Given the description of an element on the screen output the (x, y) to click on. 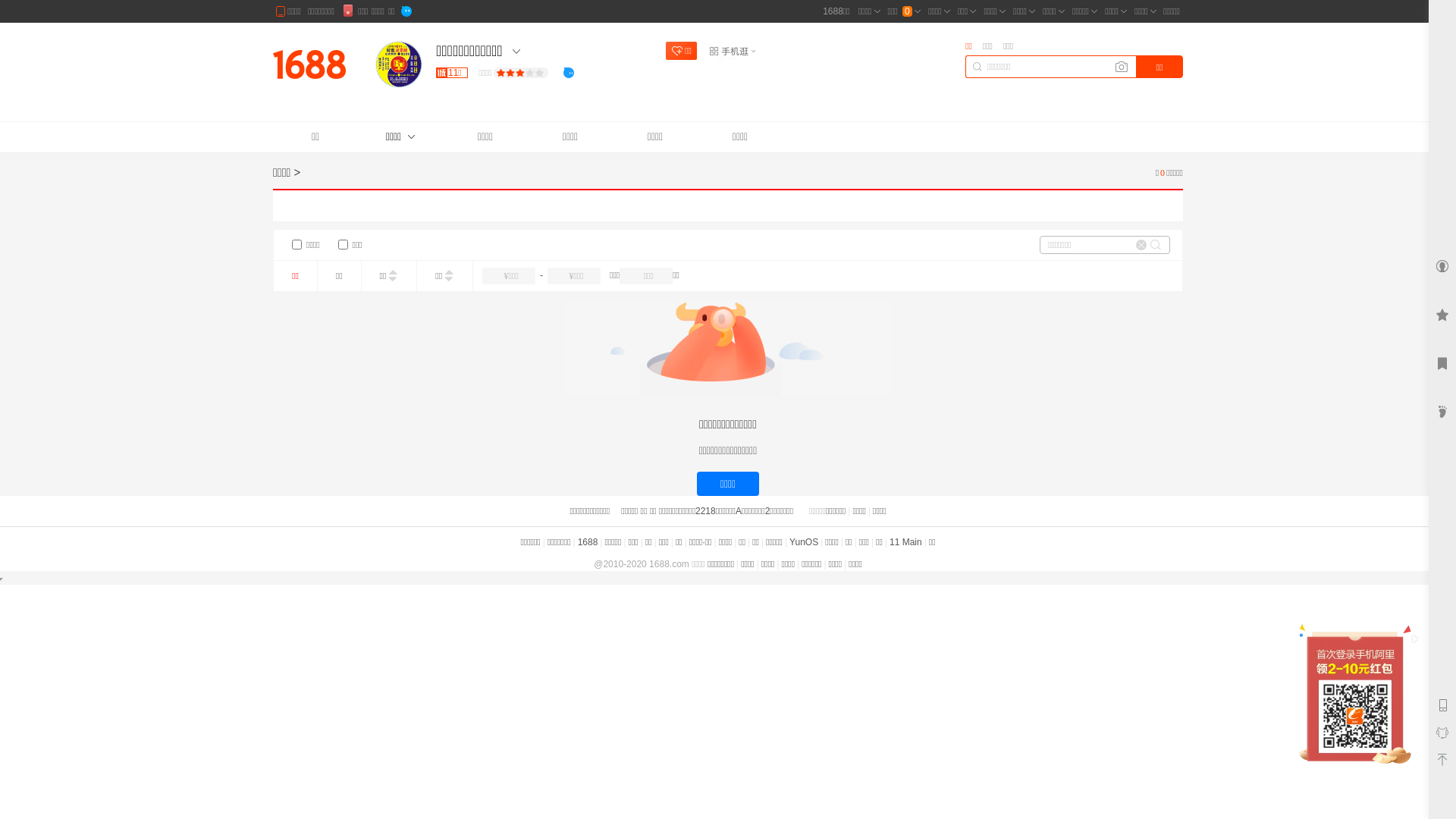
1688 Element type: text (587, 541)
YunOS Element type: text (803, 541)
11 Main Element type: text (905, 541)
